Given the description of an element on the screen output the (x, y) to click on. 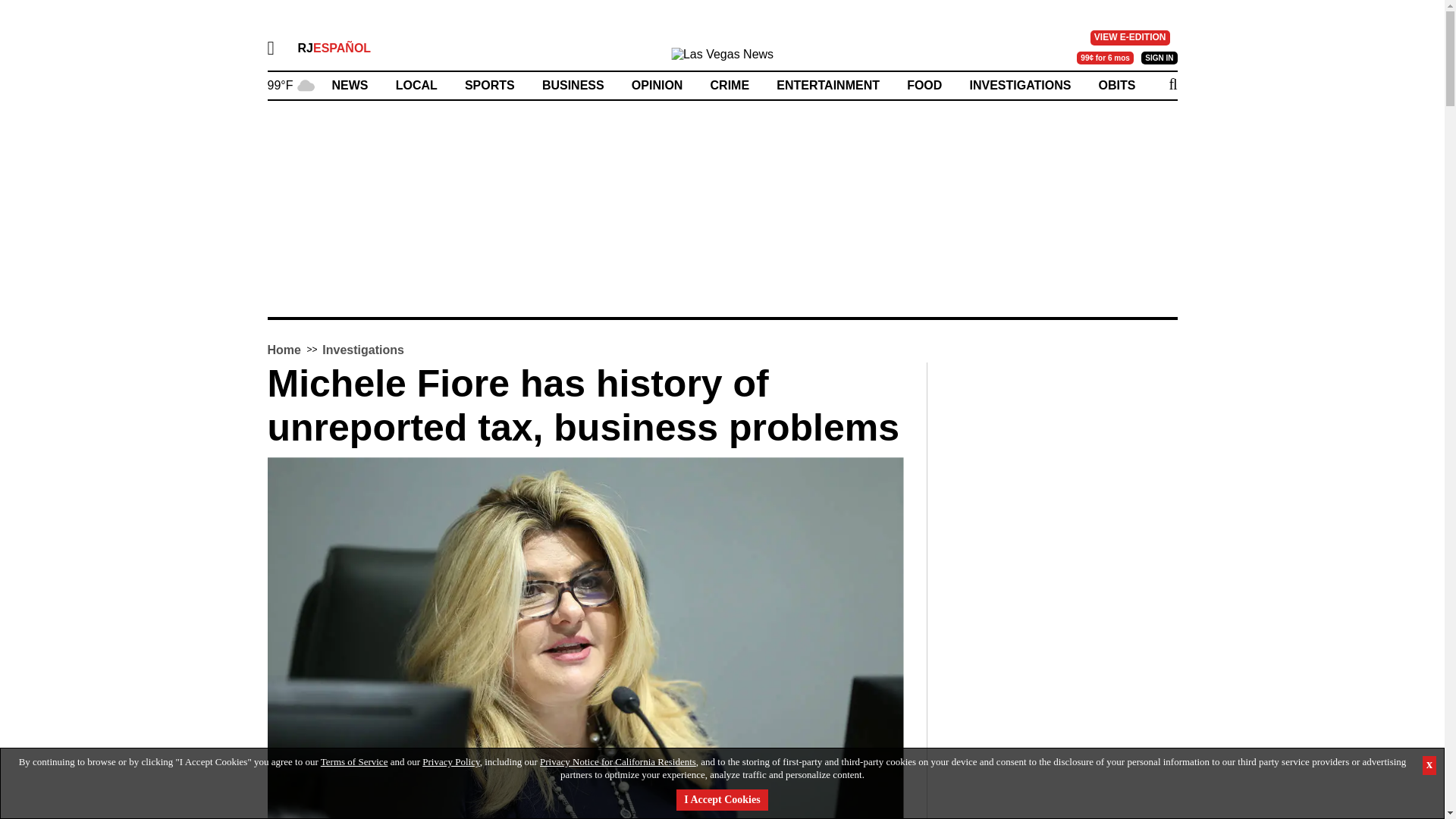
VIEW E-EDITION (1130, 37)
BUSINESS (572, 84)
FOOD (924, 84)
Las Vegas News (722, 58)
LOCAL (417, 84)
INVESTIGATIONS (1019, 84)
ENTERTAINMENT (827, 84)
SPORTS (489, 84)
OBITS (1117, 84)
SIGN IN (1158, 58)
